Given the description of an element on the screen output the (x, y) to click on. 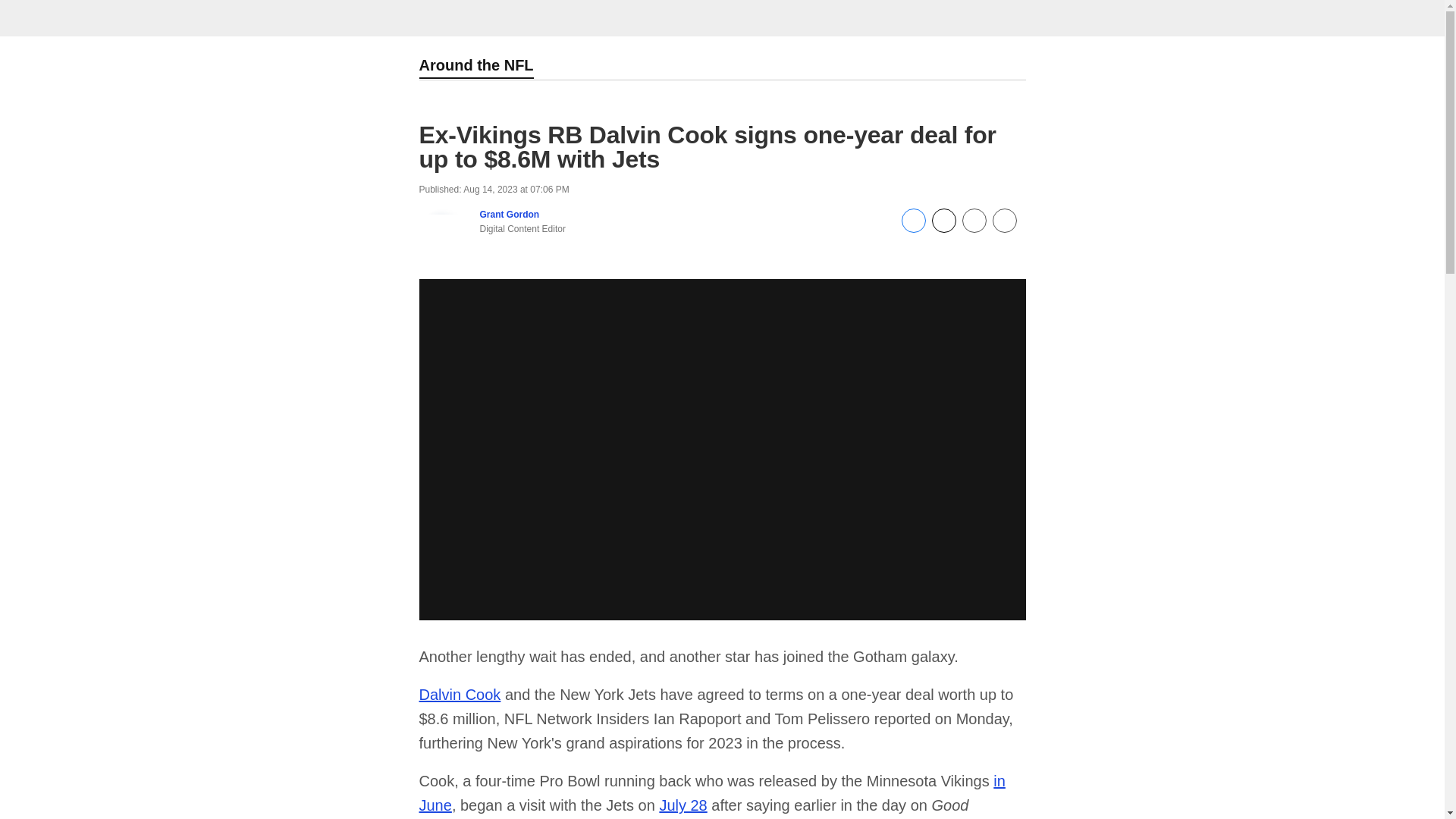
Send email (972, 228)
in June (711, 793)
Share on Twitter (943, 228)
Grant Gordon (508, 214)
Dalvin Cook (459, 694)
Share on Facebook (912, 228)
Dalvin Cook (459, 694)
July 28 (682, 805)
Copy link (1003, 221)
Around the NFL (475, 66)
